Given the description of an element on the screen output the (x, y) to click on. 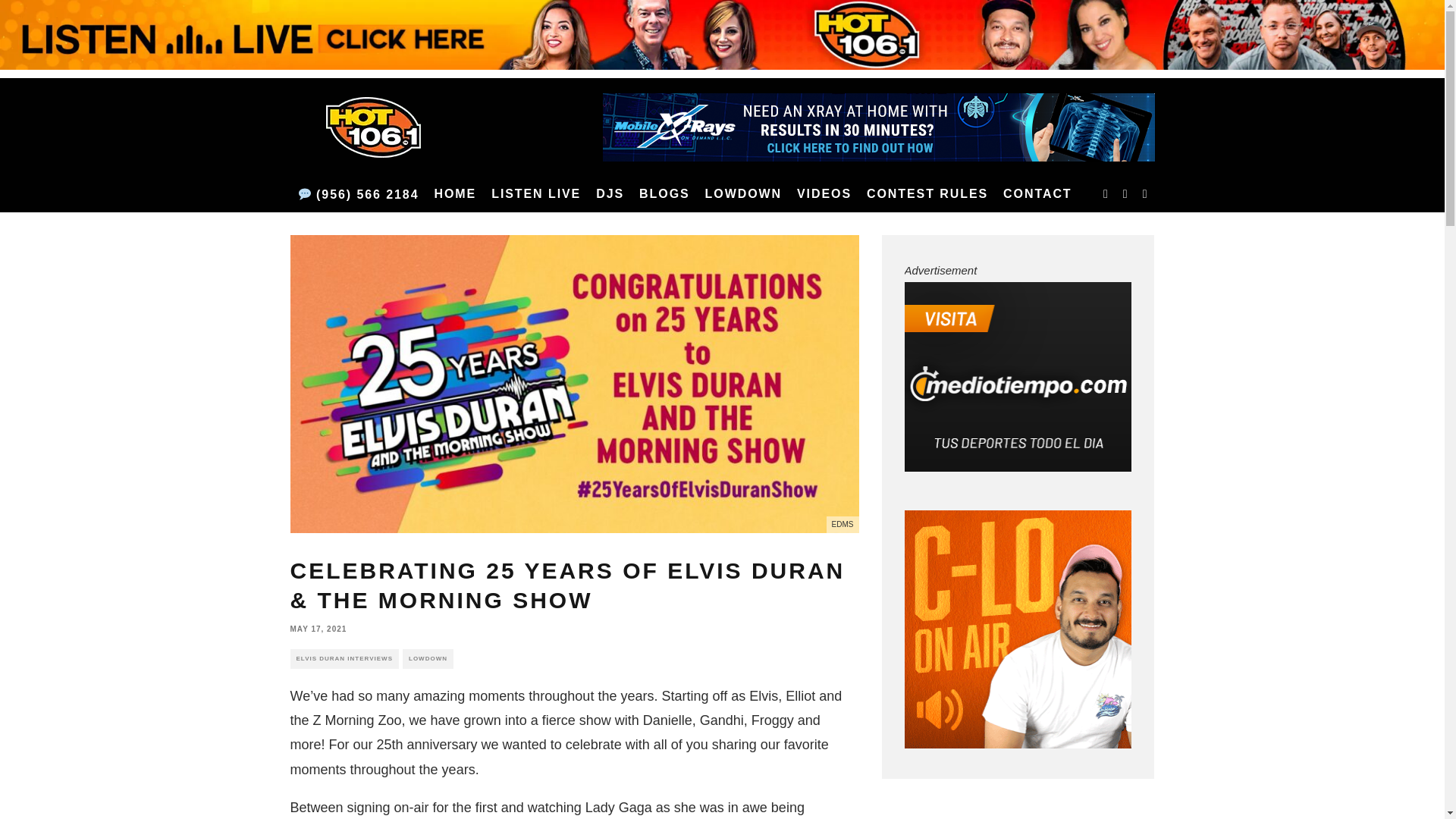
LISTEN LIVE (535, 193)
HOME (454, 193)
BLOGS (664, 193)
CONTEST RULES (927, 193)
VIDEOS (824, 193)
DJS (609, 193)
LOWDOWN (743, 193)
